Given the description of an element on the screen output the (x, y) to click on. 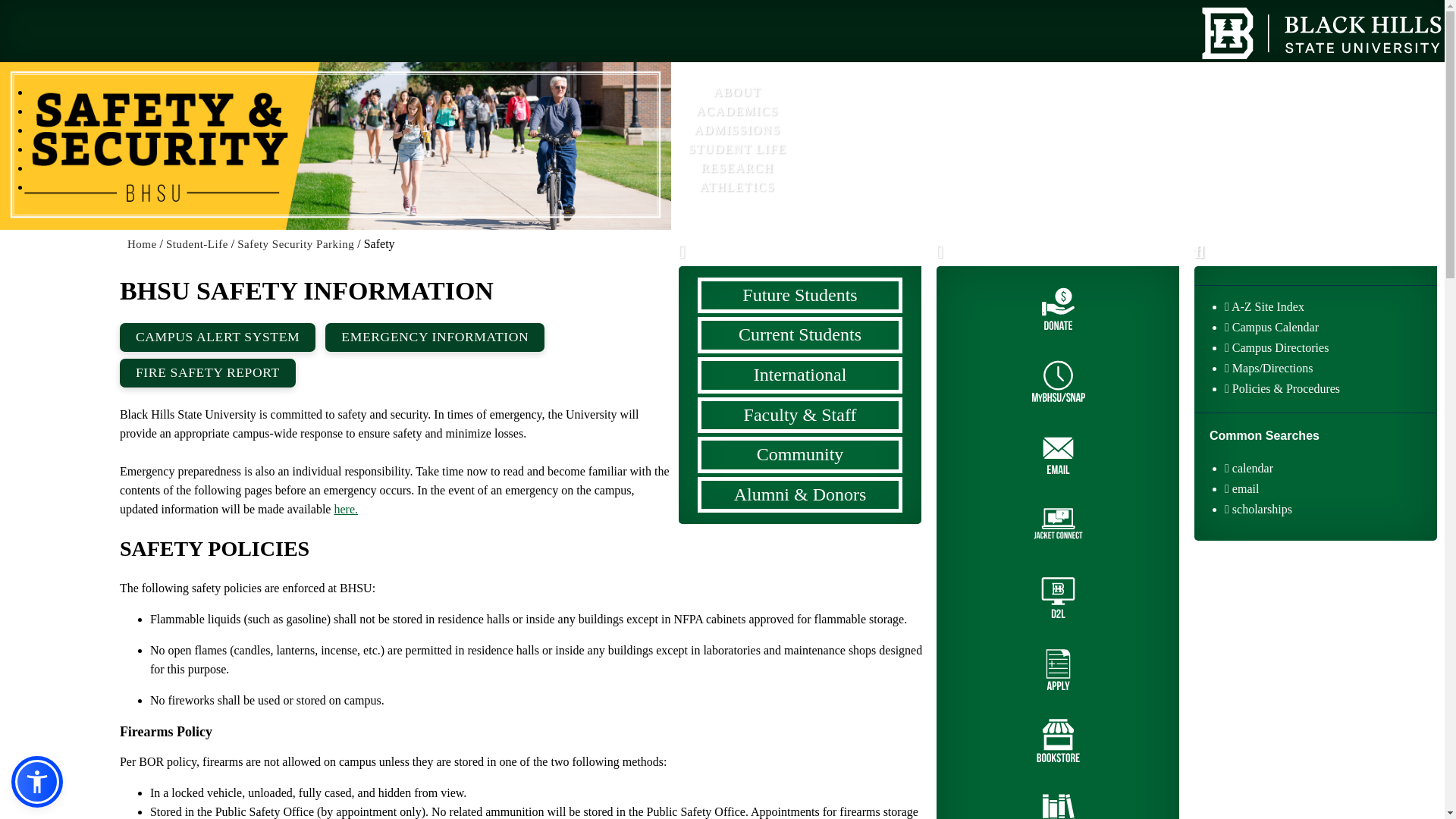
A-Z Site Index (1330, 308)
RESEARCH (737, 167)
Open Accessibility Menu (36, 781)
email (1330, 489)
calendar (1330, 469)
Future Students (799, 295)
STUDENT LIFE (737, 148)
ATHLETICS (736, 187)
ADMISSIONS (737, 129)
ABOUT (737, 92)
scholarships (1330, 510)
Campus Calendar (1330, 328)
International (799, 375)
Current Students (799, 334)
Community (799, 454)
